Given the description of an element on the screen output the (x, y) to click on. 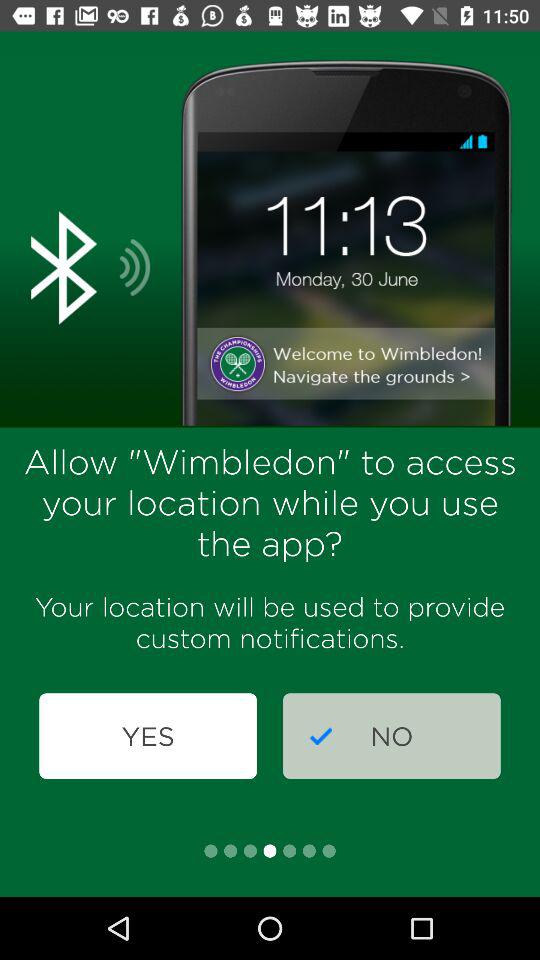
choose icon at the bottom left corner (147, 735)
